Given the description of an element on the screen output the (x, y) to click on. 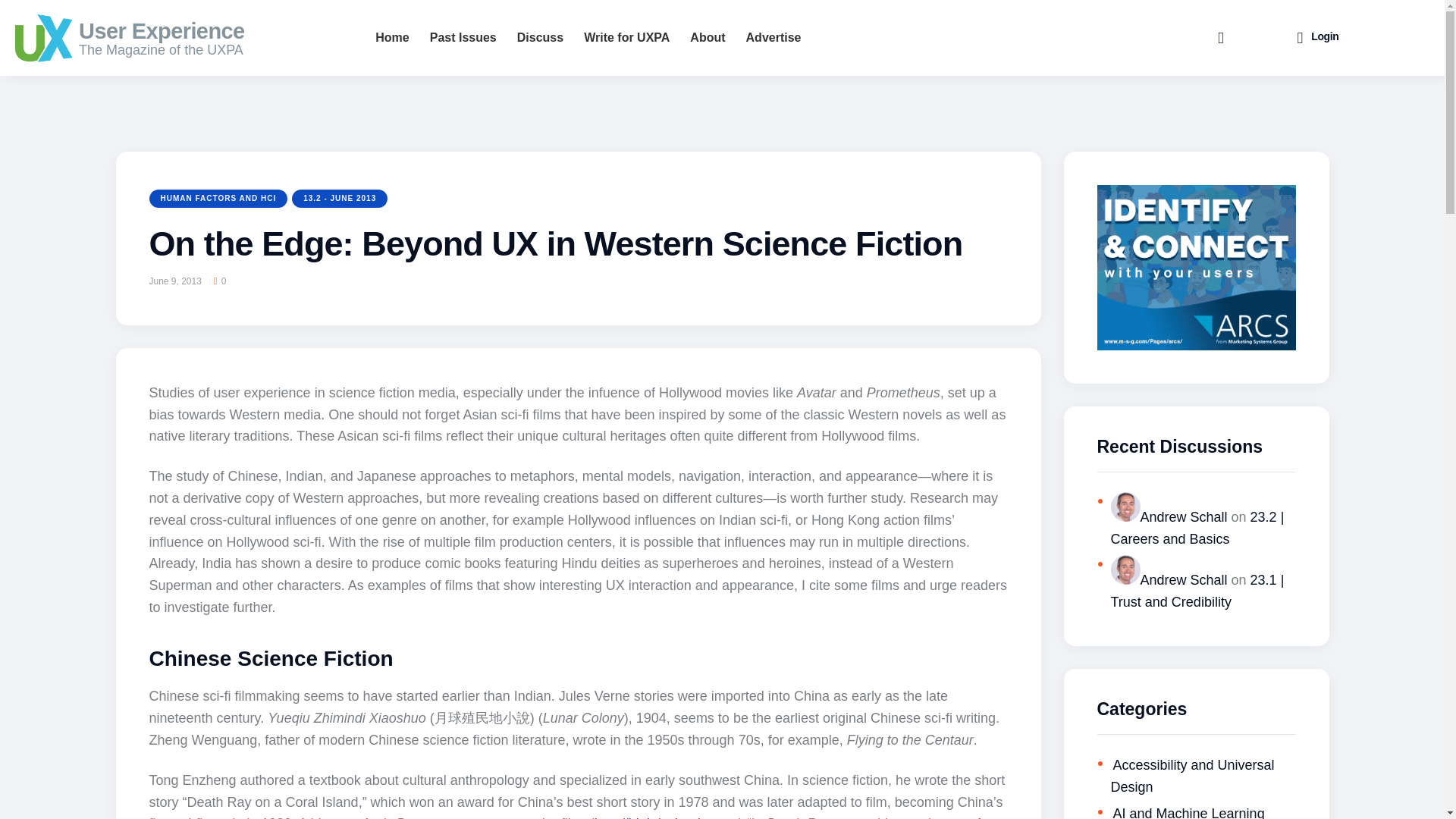
Home (391, 37)
Advertise (773, 37)
Write for UXPA (626, 37)
Test message to the forum (1196, 590)
Discuss (540, 37)
Testing forum post to Careers and Basics (1196, 528)
About (707, 37)
View Andrew Schall's profile (1168, 516)
User Experience (205, 30)
Like (224, 281)
Login (1317, 37)
View Andrew Schall's profile (1168, 580)
Past Issues (463, 37)
